Given the description of an element on the screen output the (x, y) to click on. 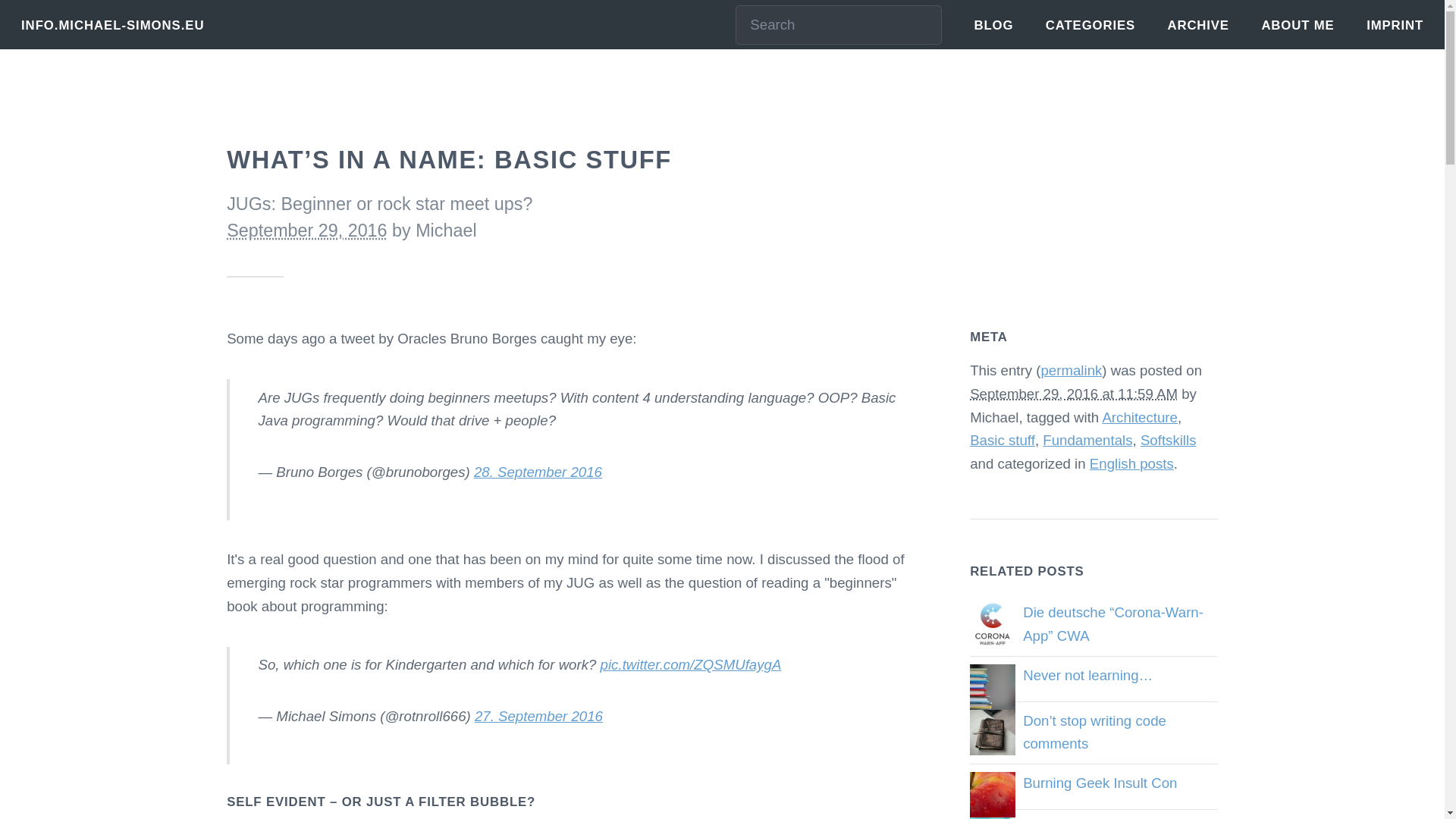
INFO.MICHAEL-SIMONS.EU (112, 24)
ABOUT ME (1296, 25)
27. September 2016 (538, 715)
IMPRINT (1395, 25)
ARCHIVE (1197, 25)
CATEGORIES (1090, 25)
BLOG (993, 25)
28. September 2016 (538, 471)
Just another nerd blog (112, 24)
